Given the description of an element on the screen output the (x, y) to click on. 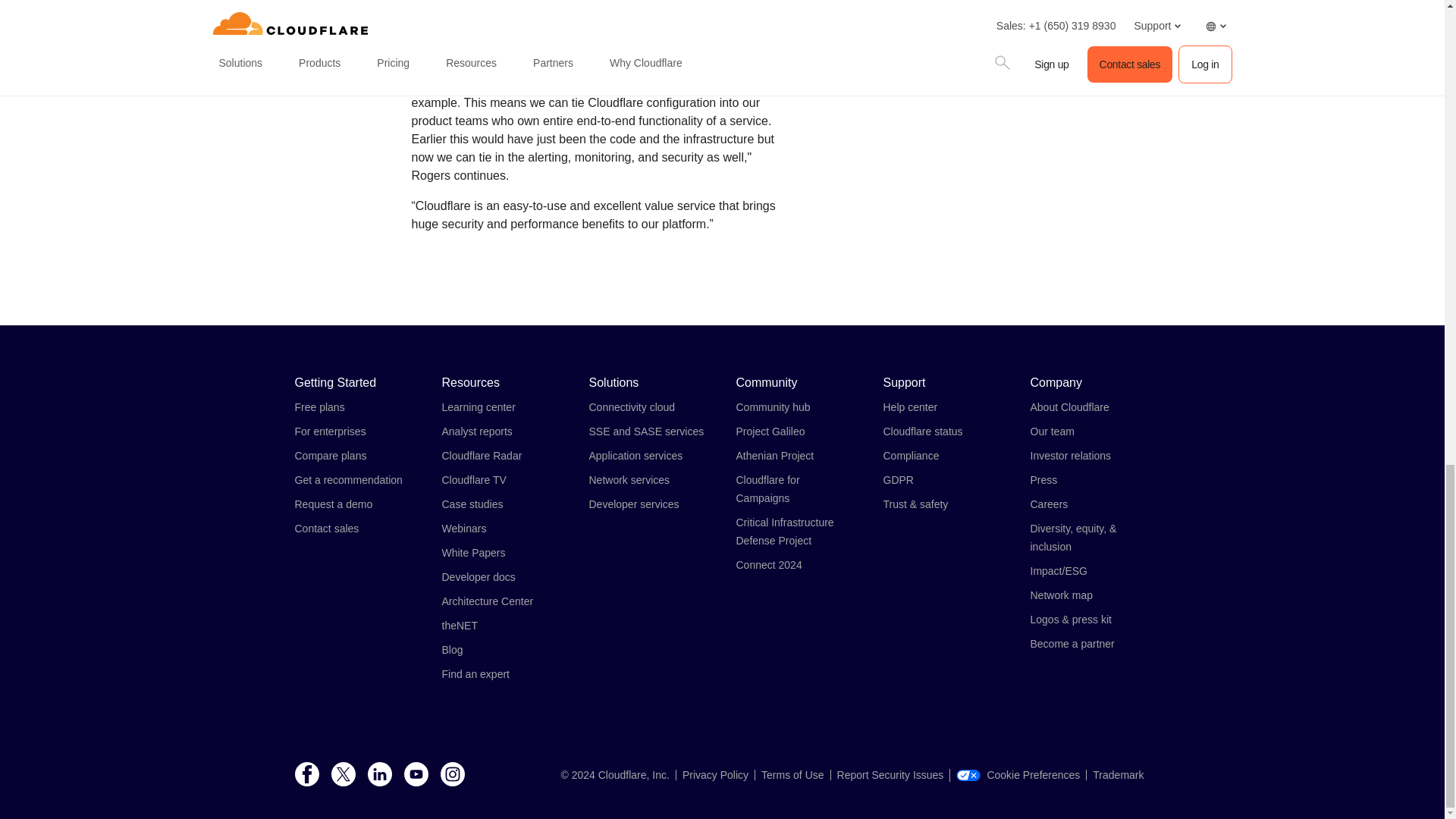
LinkedIn (378, 775)
X (342, 775)
Facebook (306, 775)
Youtube (415, 775)
Instagram (451, 775)
